Given the description of an element on the screen output the (x, y) to click on. 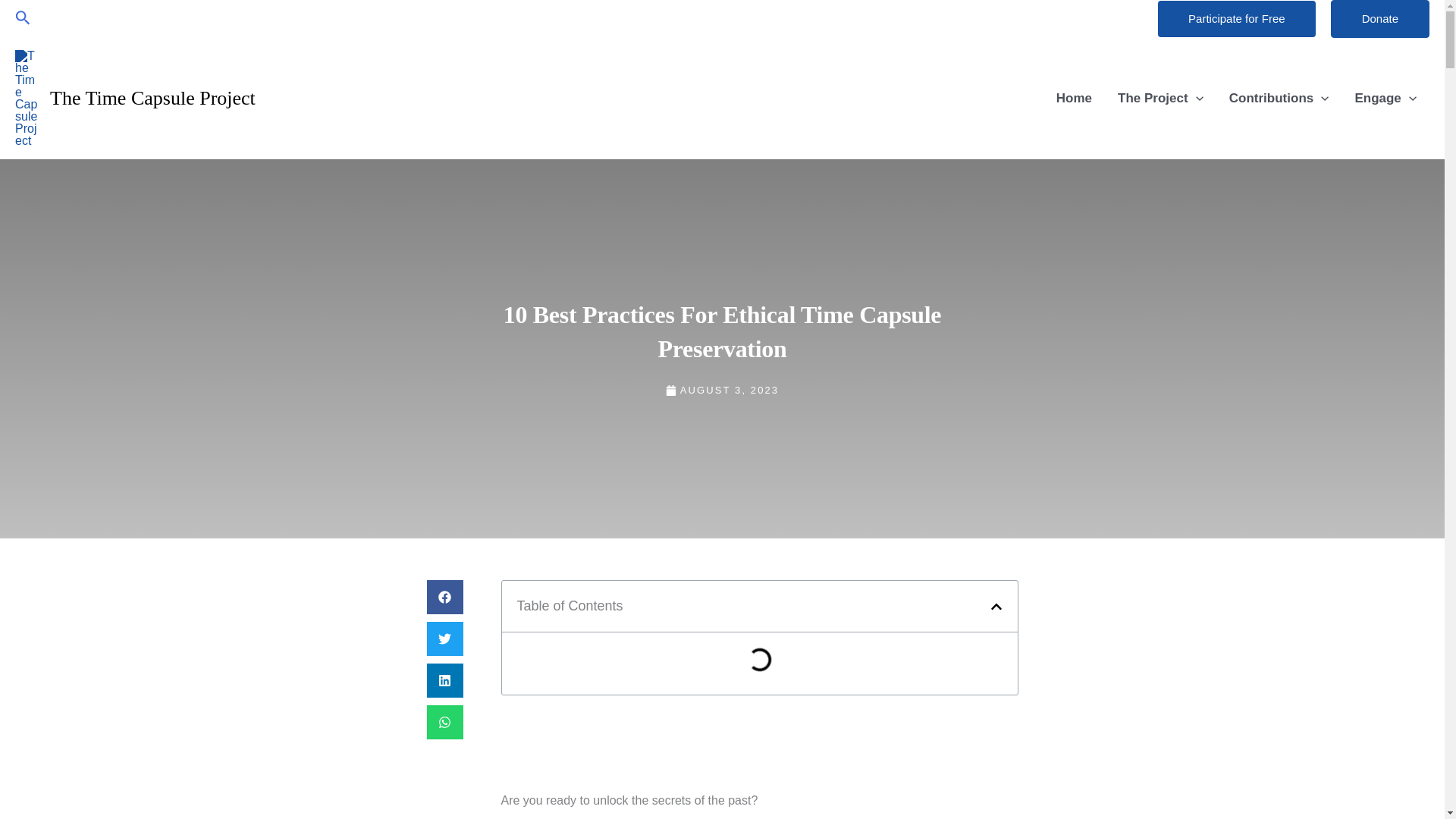
Engage (1384, 98)
Participate for Free (1236, 18)
The Time Capsule Project (152, 97)
Contributions (1278, 98)
The Project (1160, 98)
Donate (1379, 18)
